Given the description of an element on the screen output the (x, y) to click on. 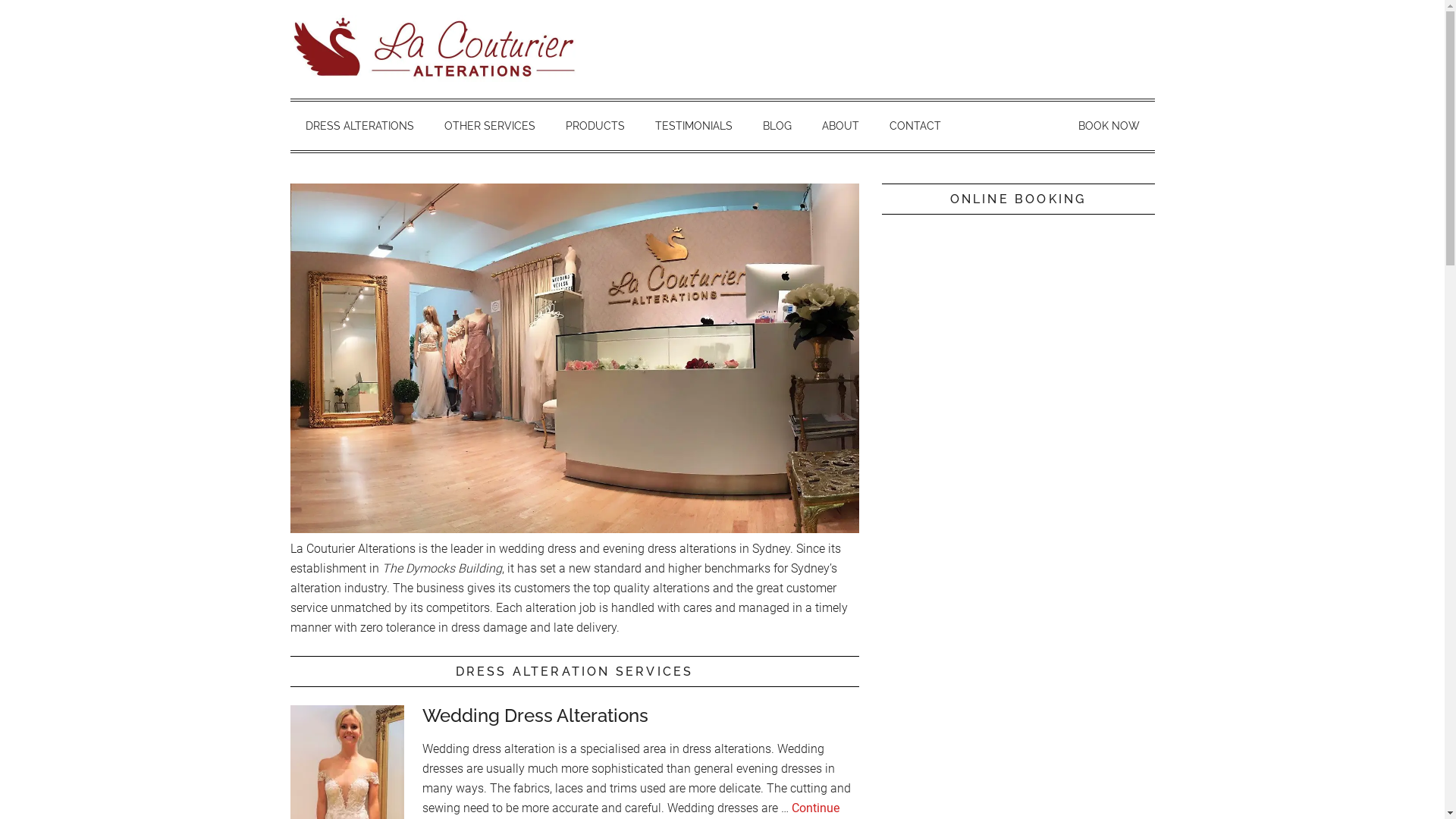
BLOG Element type: text (776, 125)
Dress Alterations by La Couturier Alterations Element type: text (433, 49)
OTHER SERVICES Element type: text (489, 125)
Skip to main content Element type: text (0, 0)
Wedding Dress Alterations Element type: text (534, 715)
BOOK NOW Element type: text (1108, 125)
ABOUT Element type: text (840, 125)
PRODUCTS Element type: text (595, 125)
DRESS ALTERATIONS Element type: text (358, 125)
CONTACT Element type: text (914, 125)
TESTIMONIALS Element type: text (693, 125)
